Given the description of an element on the screen output the (x, y) to click on. 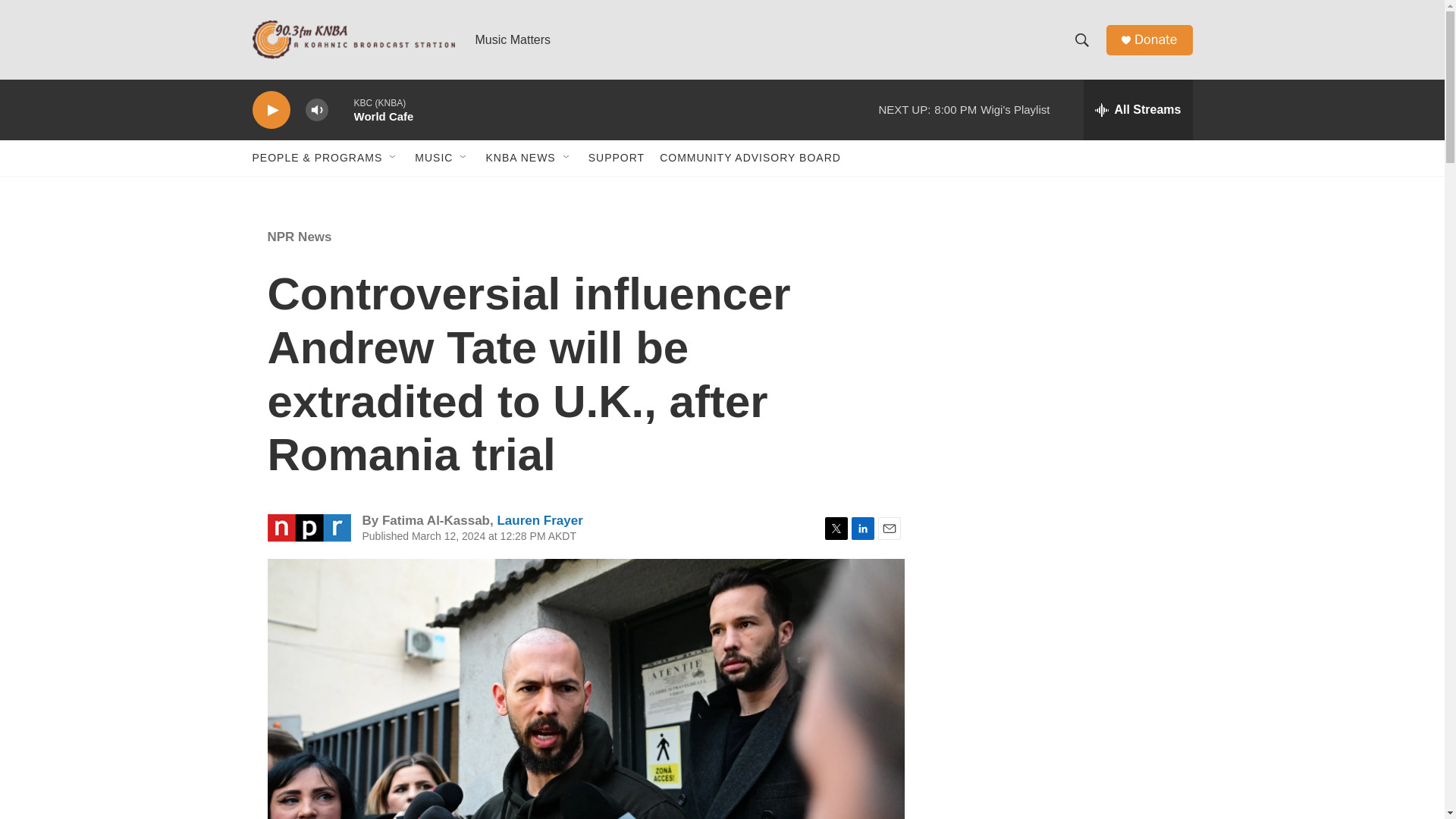
Donate (1155, 39)
Show Search (1081, 39)
